Given the description of an element on the screen output the (x, y) to click on. 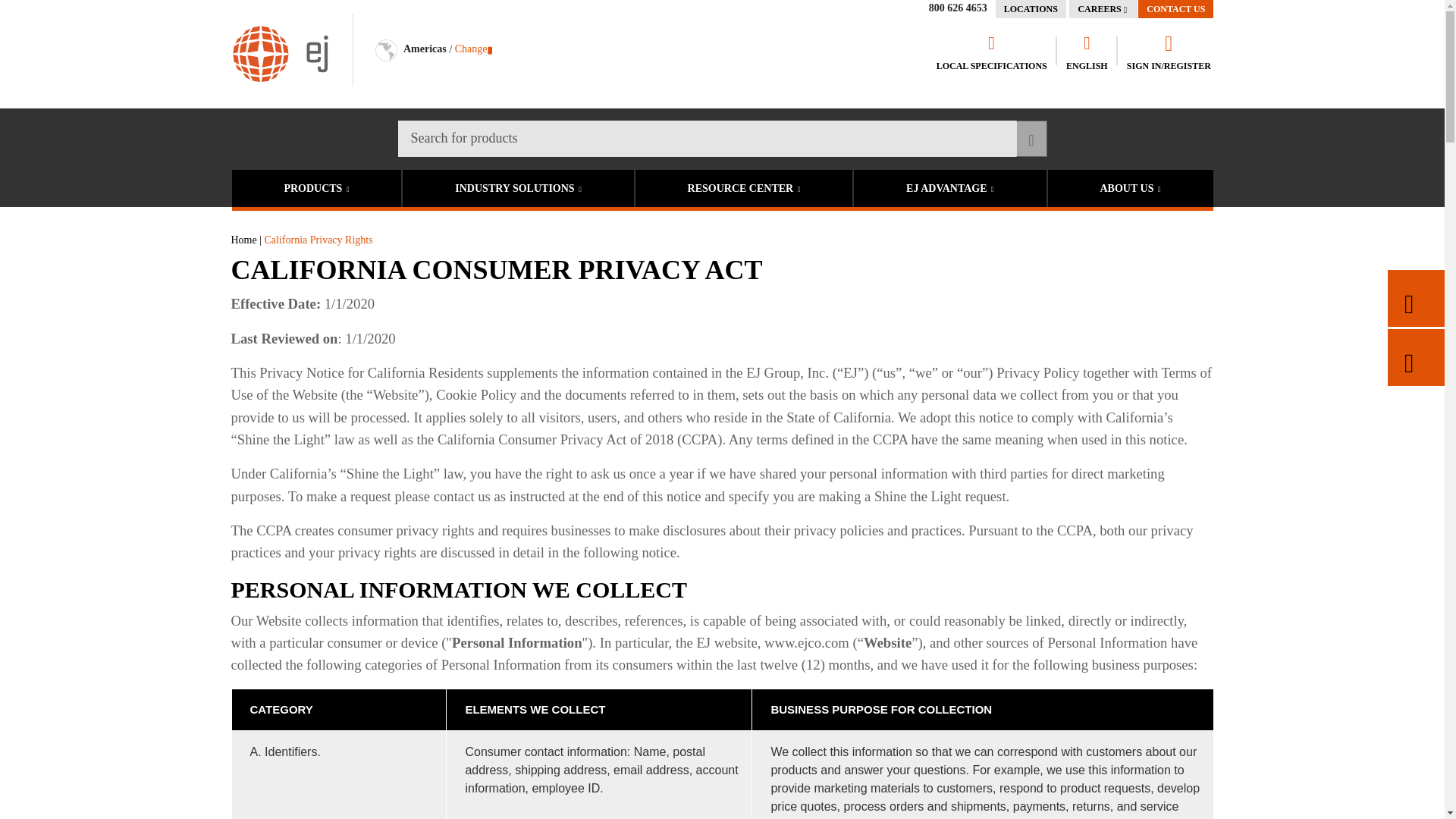
LOCAL SPECIFICATIONS (991, 54)
LOCATIONS (1030, 8)
INDUSTRY SOLUTIONS (517, 187)
PRODUCTS (315, 187)
CAREERS (1102, 8)
CONTACT US (1175, 8)
Change (473, 48)
